Given the description of an element on the screen output the (x, y) to click on. 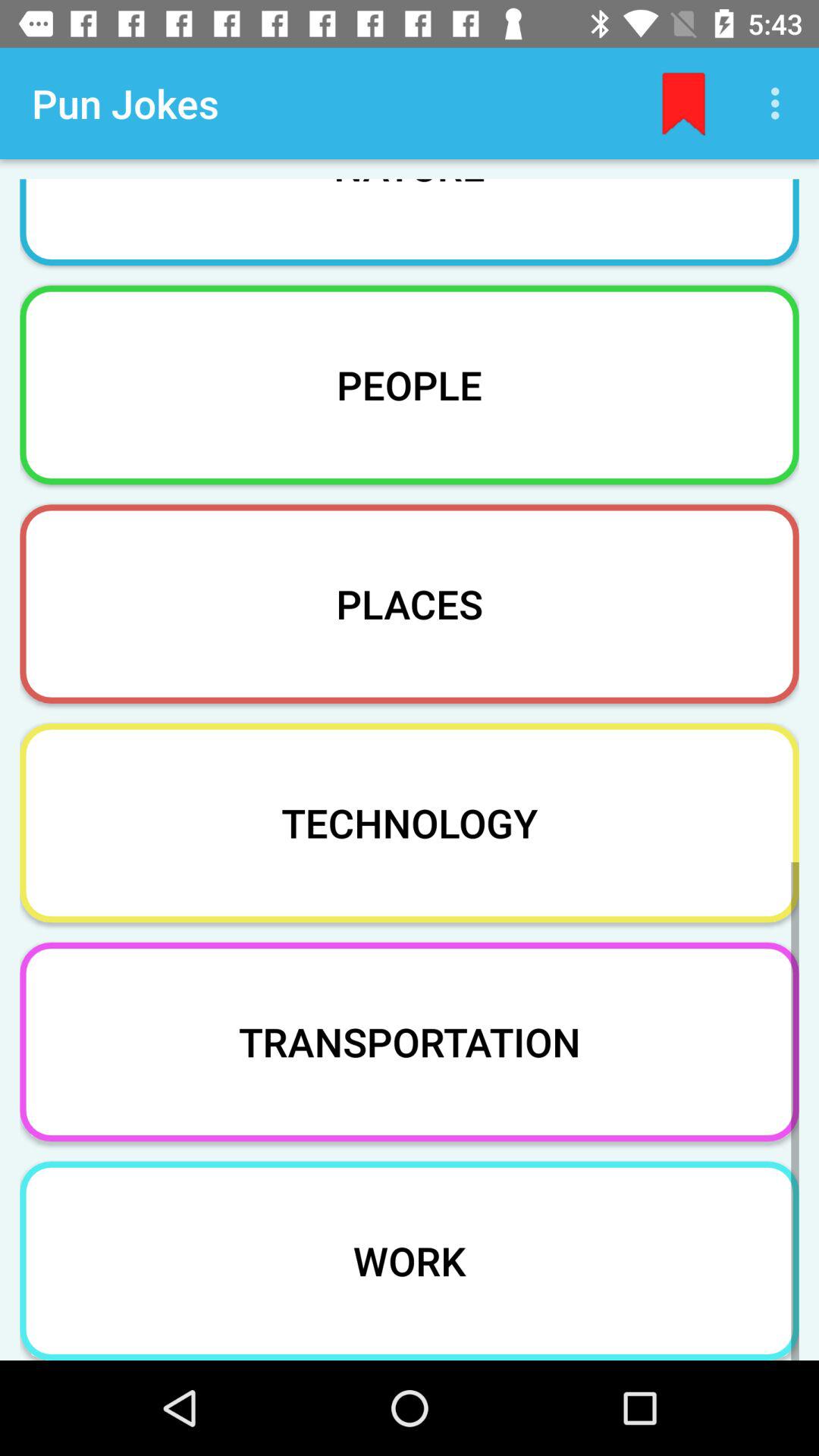
open the item above the places (409, 384)
